Given the description of an element on the screen output the (x, y) to click on. 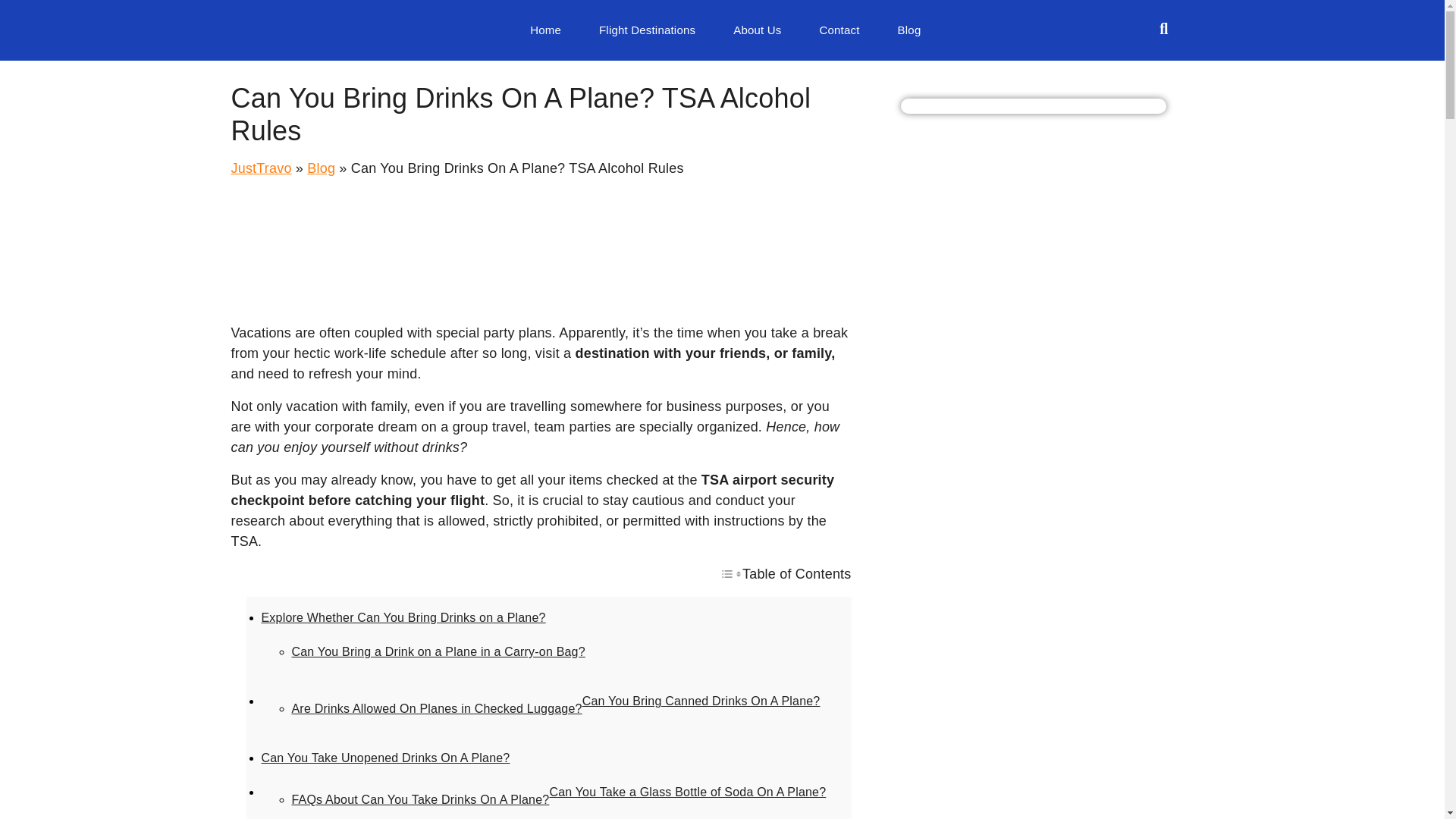
Can You Take Unopened Drinks On A Plane? (384, 757)
About Us (756, 29)
Can You Bring Canned Drinks On A Plane? (701, 700)
Home (544, 29)
Are Drinks Allowed On Planes in Checked Luggage? (435, 707)
Explore Whether Can You Bring Drinks on a Plane? (402, 617)
FAQs About Can You Take Drinks On A Plane? (419, 799)
Blog (909, 29)
Can You Bring a Drink on a Plane in a Carry-on Bag? (438, 651)
Can You Take a Glass Bottle of Soda On A Plane? (686, 791)
